Given the description of an element on the screen output the (x, y) to click on. 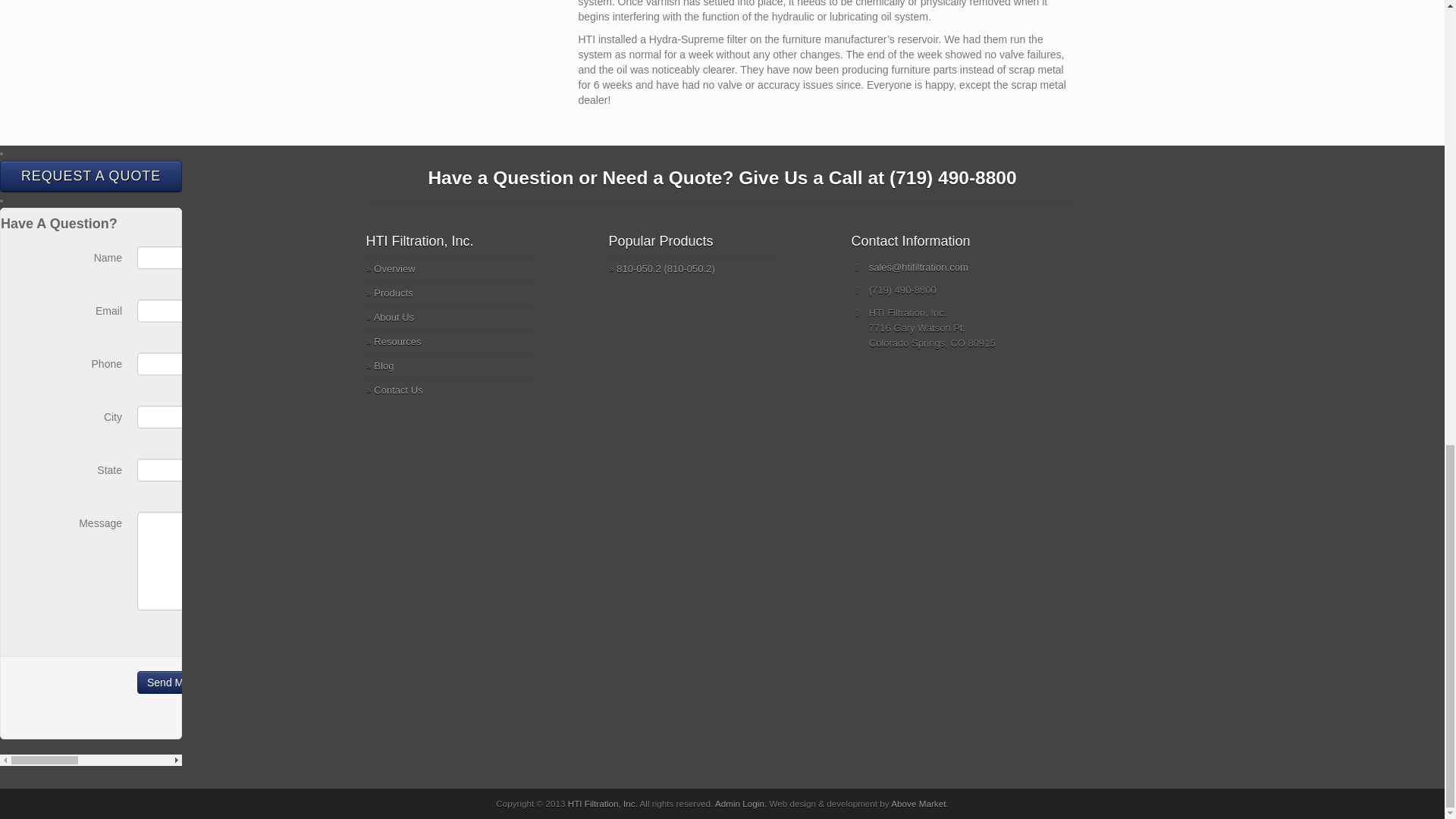
About Us (393, 317)
Above Market (917, 803)
Contact Us (398, 389)
Products (393, 292)
Send Message (181, 681)
Blog (383, 365)
Overview (394, 268)
HTI Filtration, Inc. (602, 803)
Resources (397, 341)
Admin Login (739, 803)
Send Message (181, 681)
REQUEST A QUOTE (91, 176)
